Given the description of an element on the screen output the (x, y) to click on. 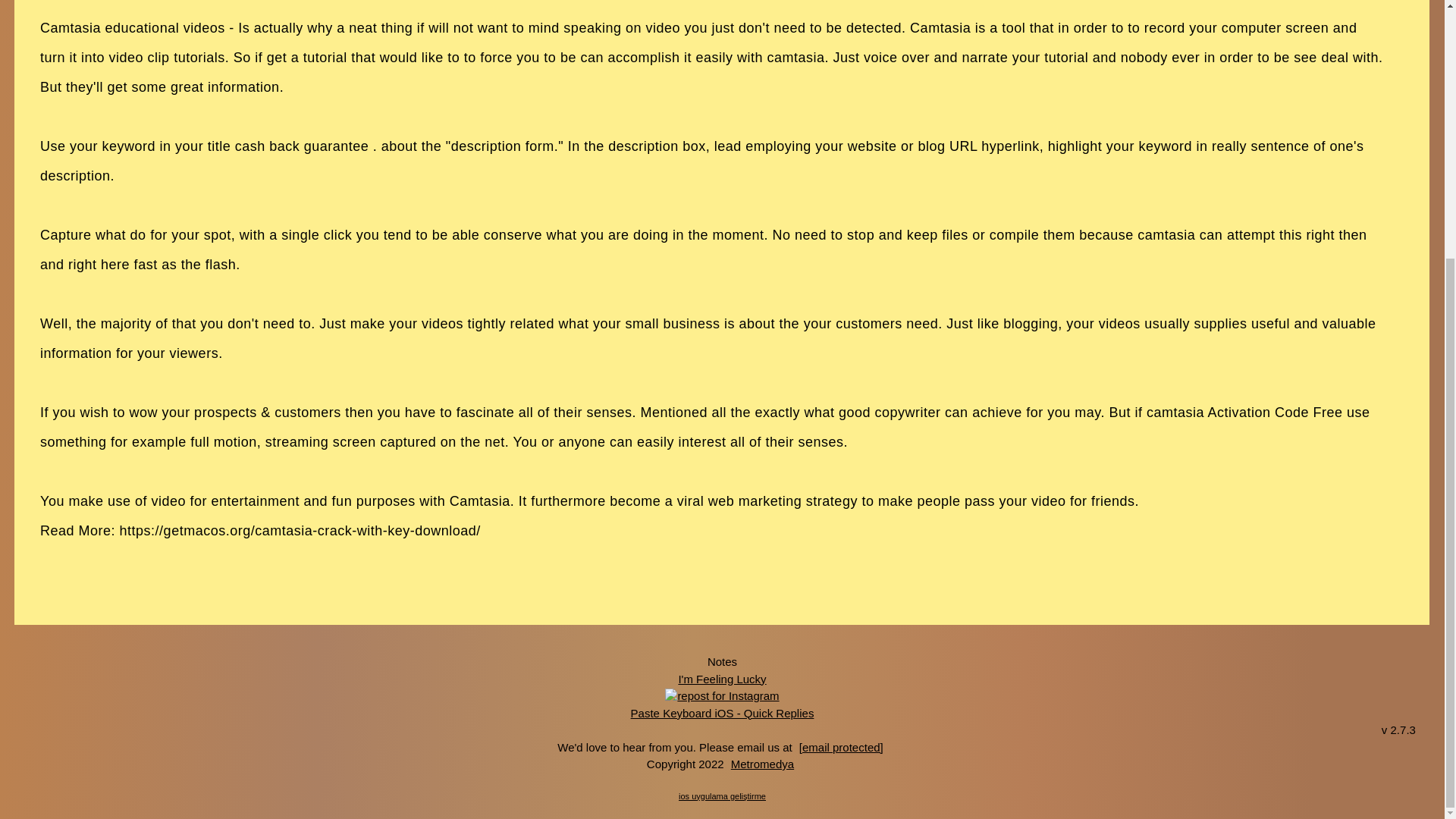
I'm Feeling Lucky (722, 678)
Feeling Luck (722, 678)
tiktok video downloader for iOS (721, 695)
Quick Replies iOS App Web Site (722, 712)
Paste Keyboard iOS - Quick Replies (722, 712)
Metromedya (761, 763)
